Given the description of an element on the screen output the (x, y) to click on. 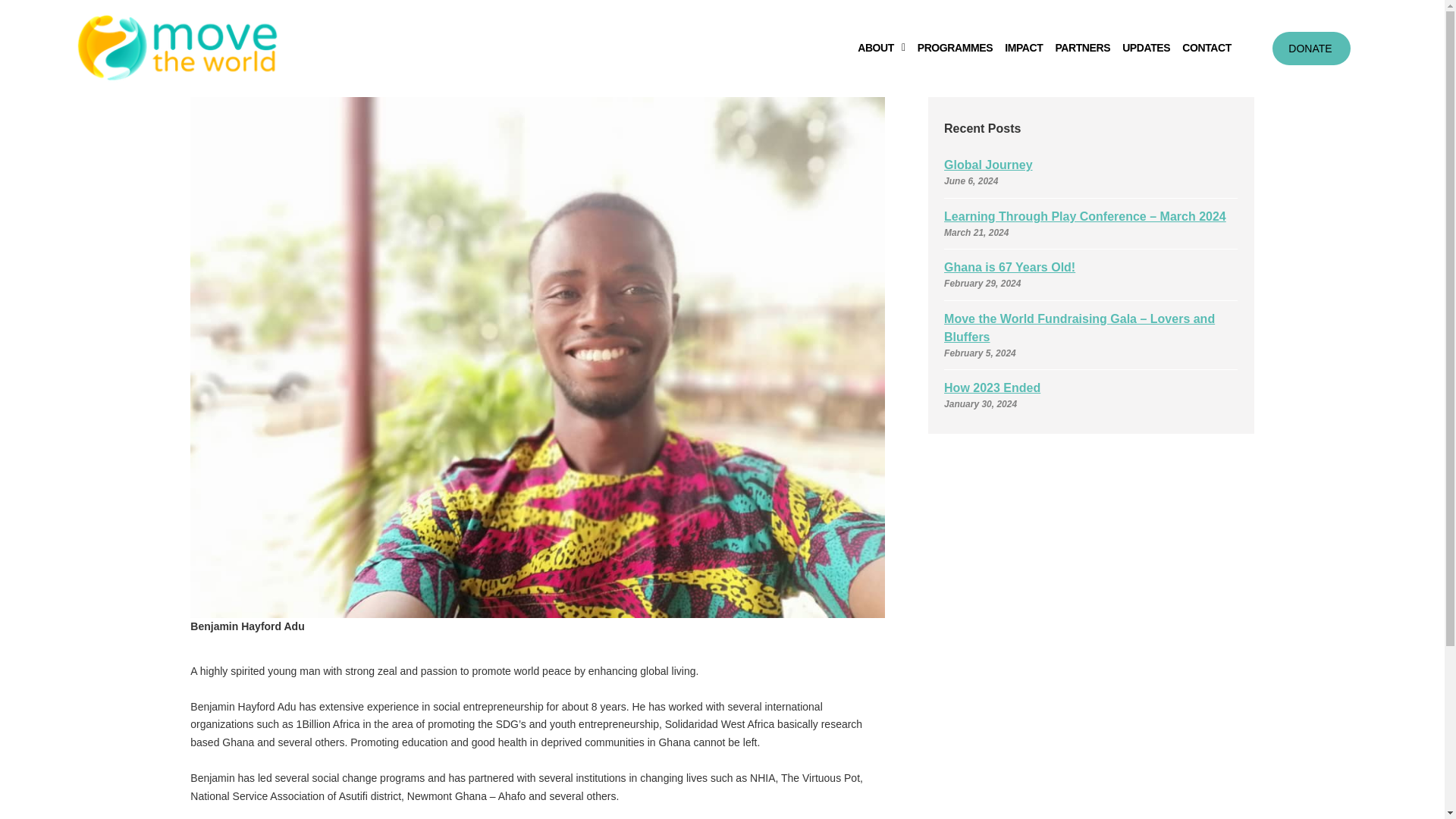
CONTACT (1206, 48)
PARTNERS (1082, 48)
UPDATES (1146, 48)
ABOUT (881, 48)
PROGRAMMES (954, 48)
DONATE (1310, 48)
IMPACT (1023, 48)
Global Journey (987, 164)
